Given the description of an element on the screen output the (x, y) to click on. 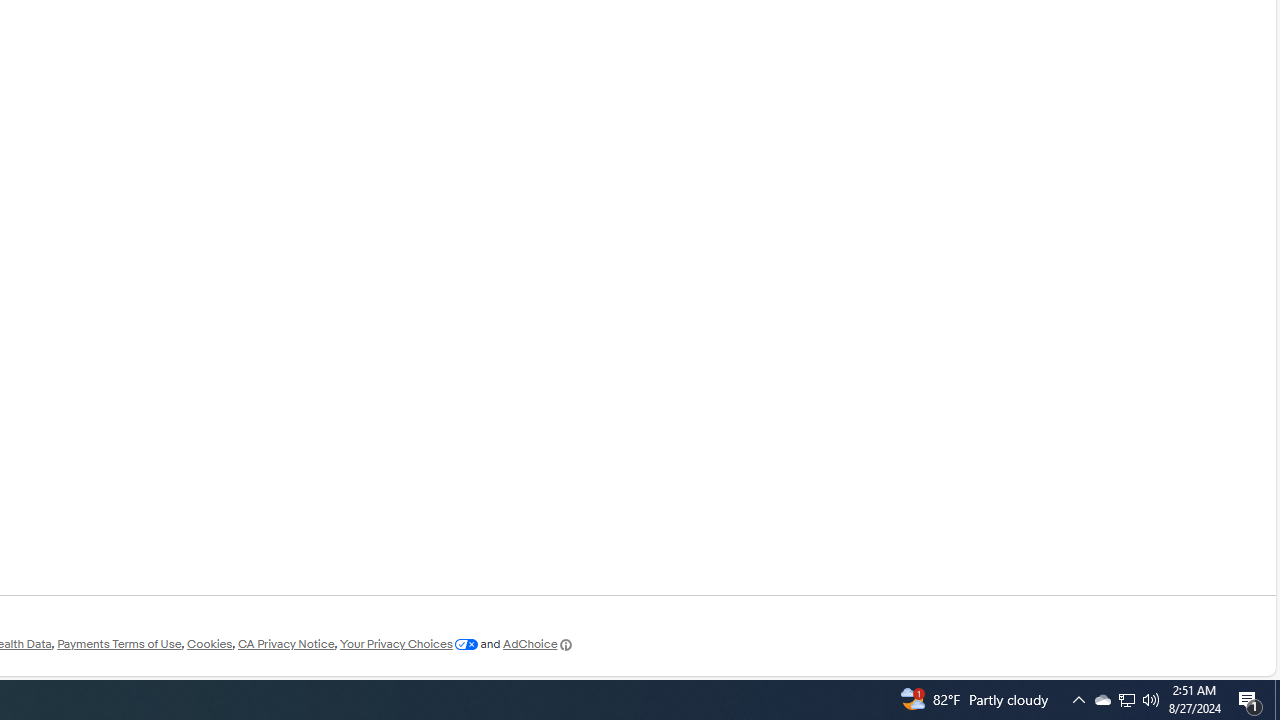
AdChoice (538, 644)
Payments Terms of Use (119, 644)
CA Privacy Notice (285, 644)
Your Privacy Choices (408, 644)
Cookies (209, 644)
